Given the description of an element on the screen output the (x, y) to click on. 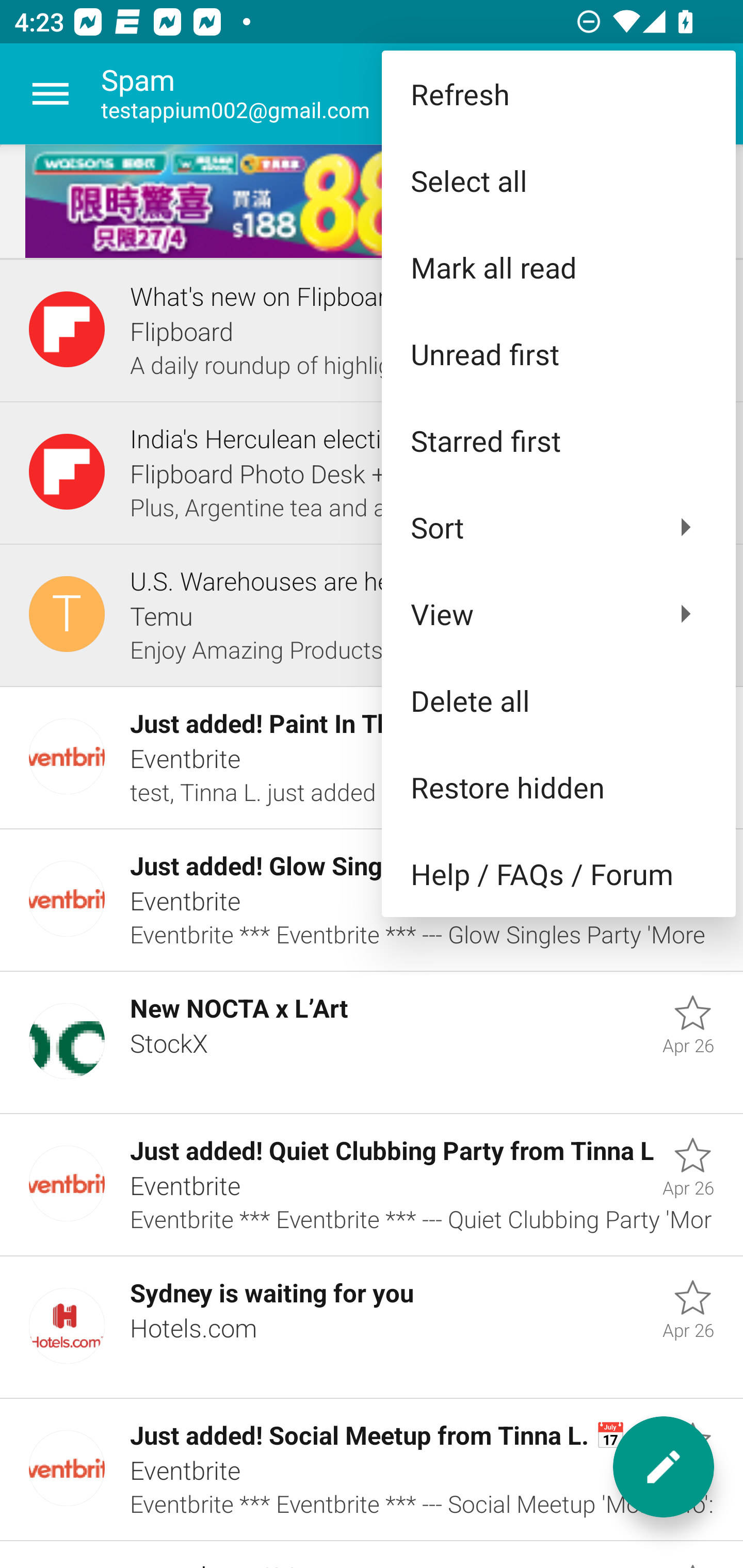
Refresh (558, 93)
Select all (558, 180)
Mark all read (558, 267)
Unread first (558, 353)
Starred first (558, 440)
Sort (558, 527)
View (558, 613)
Delete all (558, 699)
Restore hidden (558, 787)
Help / FAQs / Forum (558, 874)
